Given the description of an element on the screen output the (x, y) to click on. 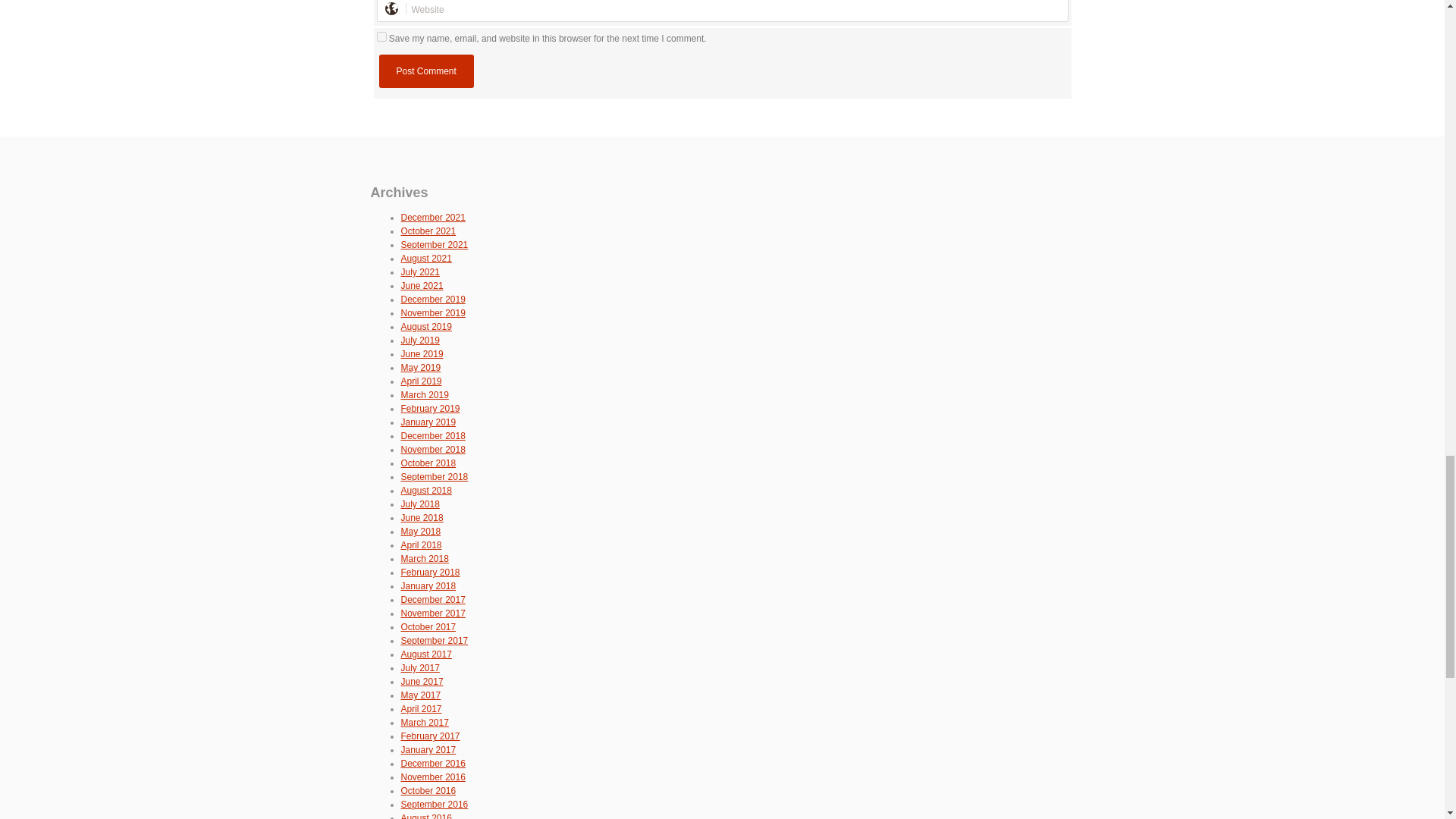
May 2019 (420, 367)
Post Comment (426, 70)
August 2018 (425, 490)
August 2021 (425, 258)
June 2019 (421, 353)
July 2021 (419, 271)
September 2021 (433, 244)
June 2021 (421, 285)
July 2019 (419, 339)
April 2019 (420, 380)
